Given the description of an element on the screen output the (x, y) to click on. 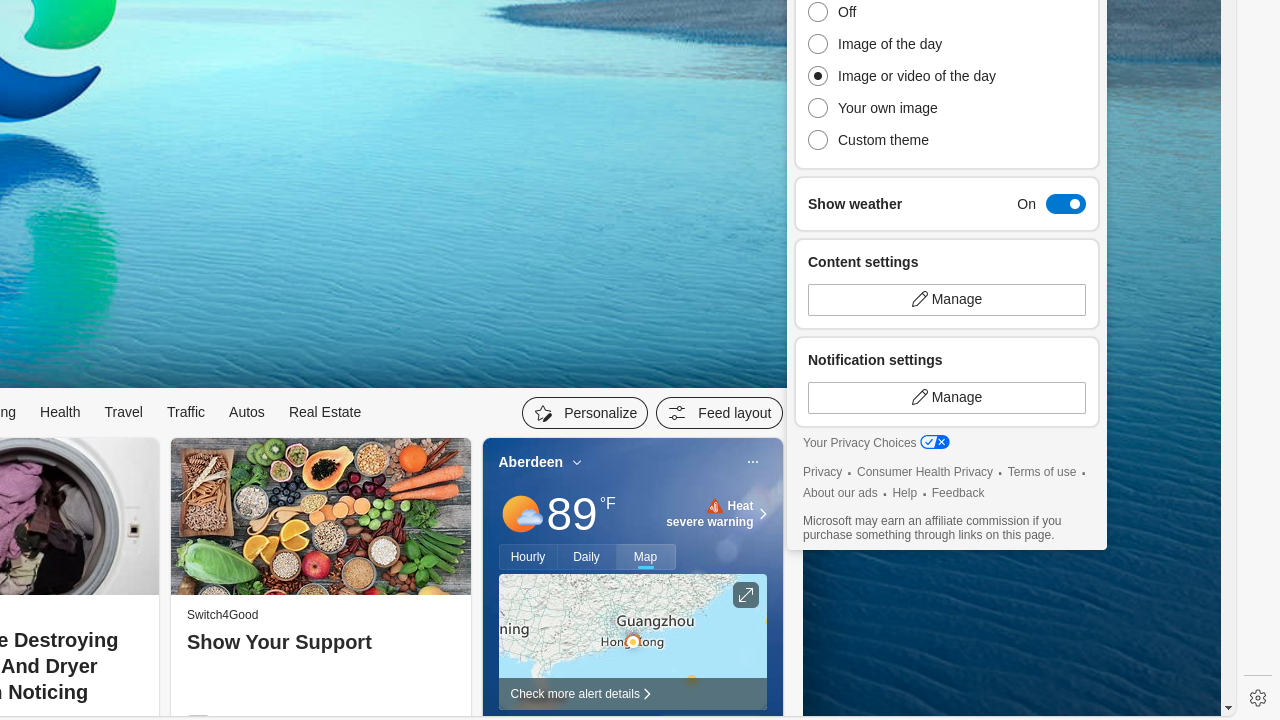
Your own image Element type: radio-button (907, 108)
Personalize your feed" Element type: push-button (585, 413)
Heat - Severe Heat severe warning Element type: link (710, 514)
Health Element type: link (60, 412)
Settings Element type: push-button (1258, 698)
